Given the description of an element on the screen output the (x, y) to click on. 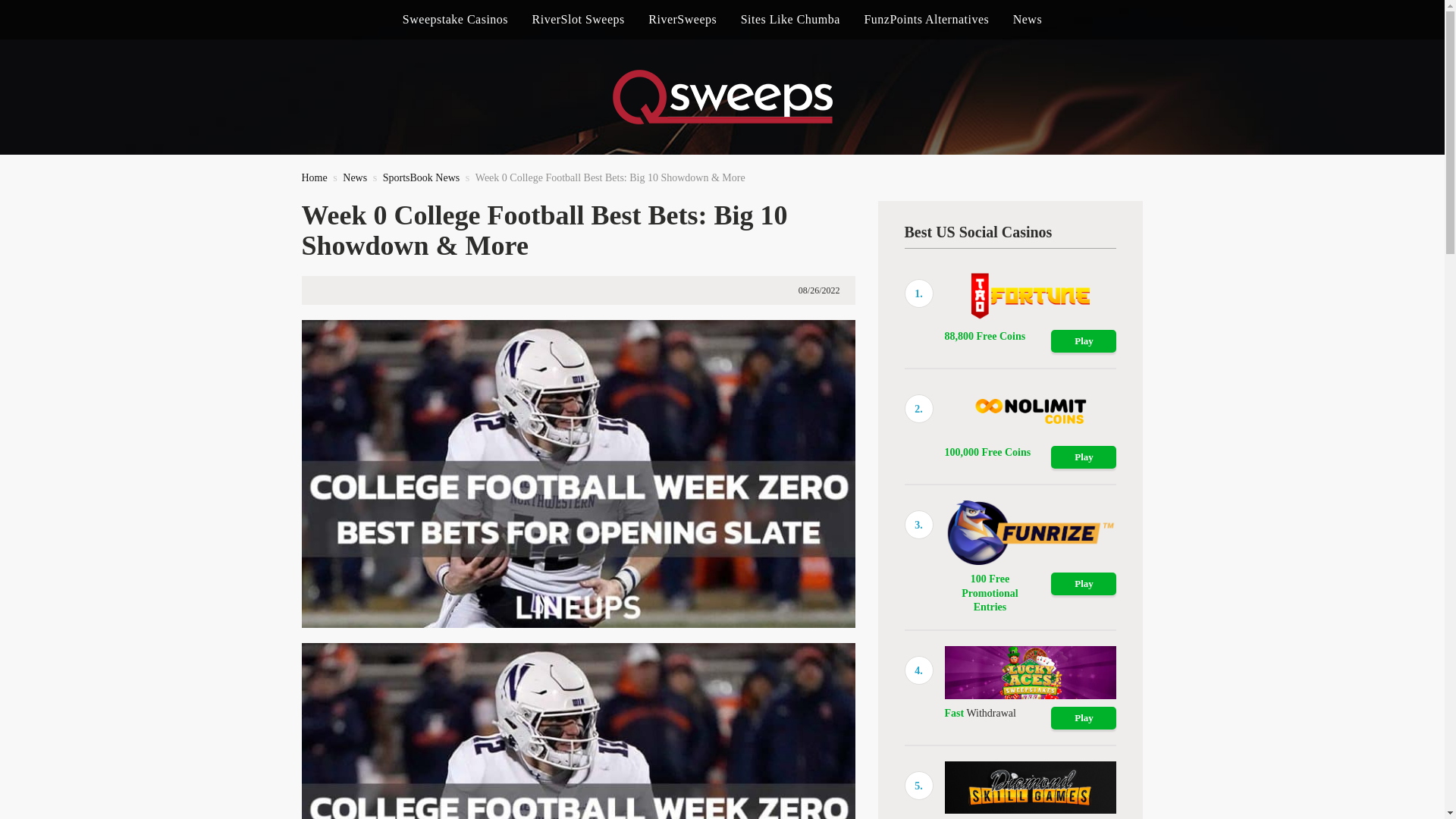
Home (314, 177)
Sites Like Chumba (790, 19)
FunzPoints Alternatives (925, 19)
Play (1083, 341)
News (354, 177)
News (354, 177)
Play (1083, 583)
Home (314, 177)
Play (1083, 717)
RiverSlot Sweeps (578, 19)
RiverSweeps (681, 19)
Sweepstake Casinos (455, 19)
SportsBook News (421, 177)
Play (1083, 456)
SportsBook News (421, 177)
